Given the description of an element on the screen output the (x, y) to click on. 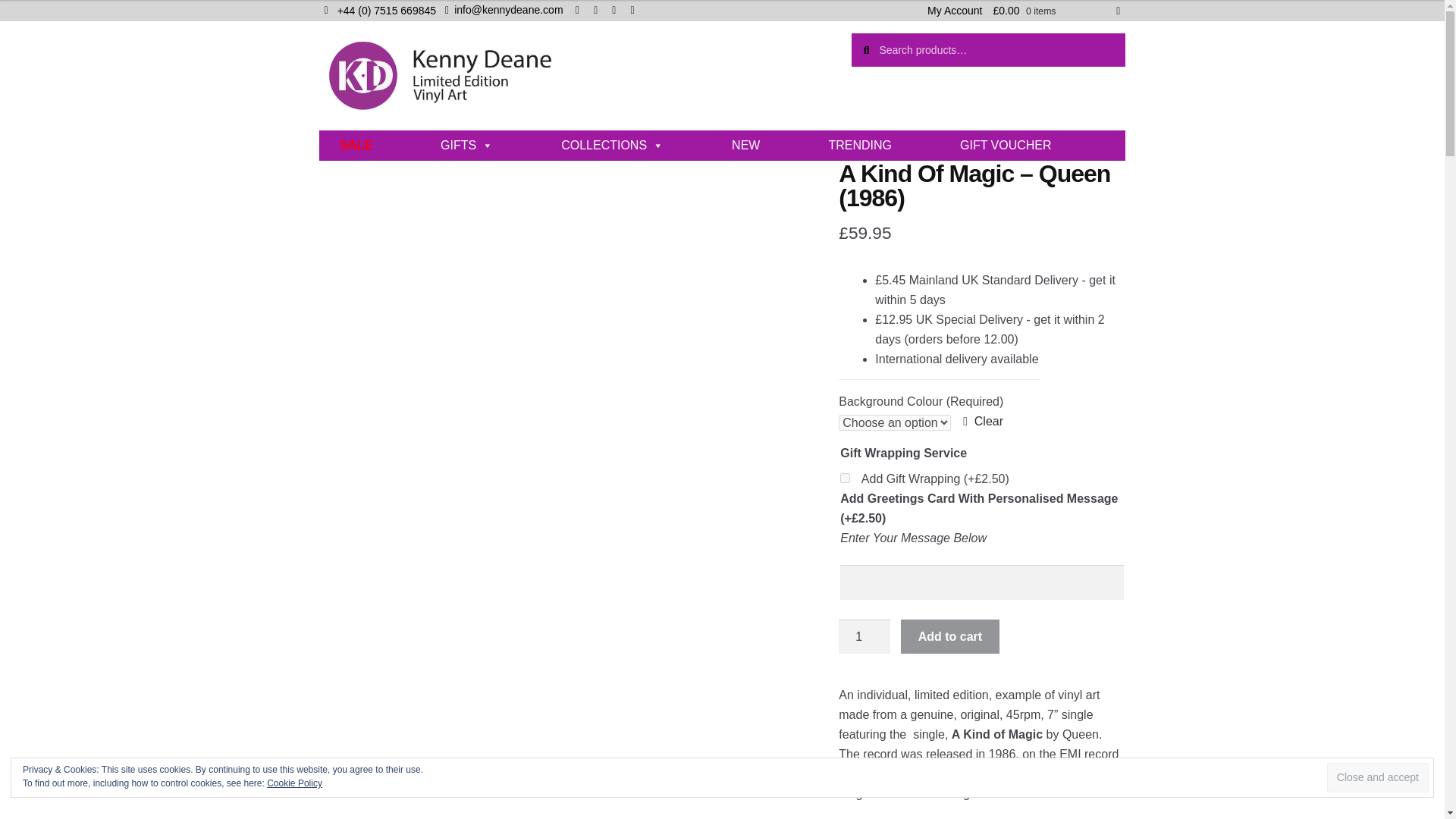
1 (863, 636)
SALE (355, 145)
My Account (954, 10)
View your shopping basket (1056, 10)
add-gift-wrapping (845, 478)
Close and accept (1377, 777)
GIFTS (466, 145)
